Given the description of an element on the screen output the (x, y) to click on. 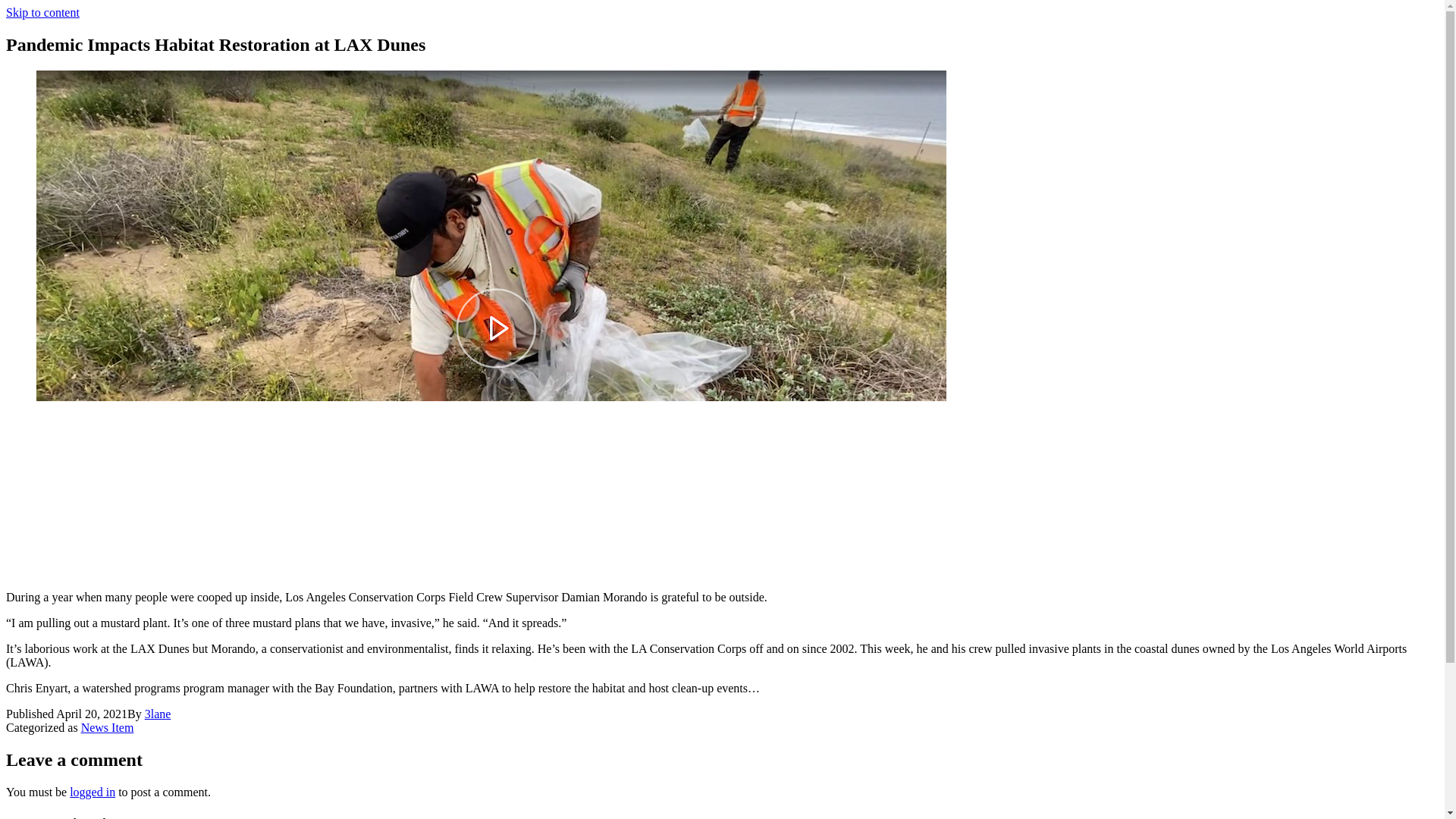
3lane (157, 713)
News Item (107, 727)
logged in (92, 791)
Skip to content (42, 11)
